Given the description of an element on the screen output the (x, y) to click on. 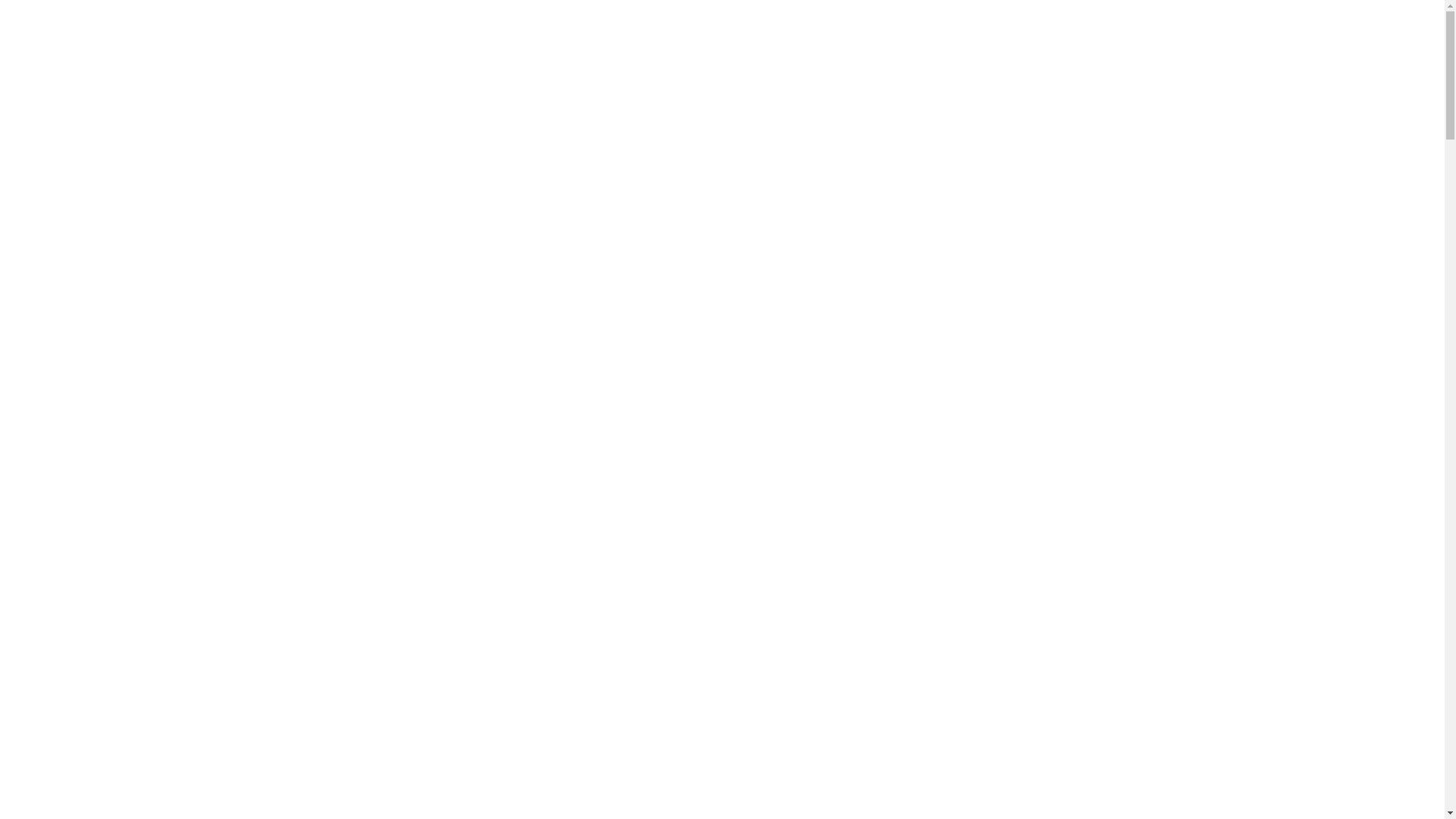
Eyebrows Element type: text (121, 752)
Lash Perm & Lift Element type: text (139, 439)
Facial Waxing Element type: text (131, 385)
Brow & Lashes Packages Element type: text (159, 235)
Eyebrow Wax Element type: text (131, 207)
Instagram Element type: text (111, 66)
Home Element type: text (50, 166)
Cosmetic Tattoo Element type: text (76, 508)
Cosmetic Tattoo Element type: text (106, 739)
Facials Element type: text (114, 807)
Go! Element type: text (196, 631)
Eyeliner Element type: text (117, 275)
Eyebrow & Lashes Tint Element type: text (154, 221)
Body Waxing For Women Element type: text (160, 412)
About Us Element type: text (59, 589)
Body Waxing For Men Element type: text (152, 398)
Eyebrows Element type: text (90, 521)
Twitter Element type: text (70, 66)
Waxing Element type: text (84, 371)
Brow & Lashes Packages Element type: text (159, 725)
Eyebrow Wax Element type: text (131, 698)
Skin Treatments Element type: text (105, 793)
Location Element type: text (78, 25)
Services Element type: text (56, 671)
Facebook Element type: text (29, 66)
Skin Peels Element type: text (122, 330)
Lash & Brow Services Element type: text (121, 684)
Lash & Brow Services Element type: text (121, 194)
Eyebrows Element type: text (121, 262)
IPL Photorejuvenation Element type: text (152, 357)
Lip Colour Element type: text (93, 548)
Services Element type: text (56, 180)
  Element type: text (214, 630)
Lash Extensions Element type: text (136, 453)
Skin Treatments Element type: text (105, 303)
Lip Colour Element type: text (123, 289)
Threading Element type: text (91, 467)
Eyebrow & Lashes Tint Element type: text (154, 712)
Cosmetic Tattoo Element type: text (106, 248)
Eyeliner Element type: text (86, 535)
Deals Element type: text (49, 576)
Lip Colour Element type: text (123, 780)
Login Element type: text (20, 39)
Eyeliner Element type: text (117, 766)
Lash Extensions Element type: text (106, 426)
Contact Us Element type: text (63, 603)
Injectable Wrinkle Fillers Element type: text (128, 494)
Facials Element type: text (114, 316)
Shop Element type: text (48, 562)
Skip to content Element type: text (42, 12)
Microdermabrasion Element type: text (144, 344)
Home Element type: text (50, 657)
3229 9900 Element type: text (31, 25)
IPL Hair Reduction Element type: text (114, 480)
